Given the description of an element on the screen output the (x, y) to click on. 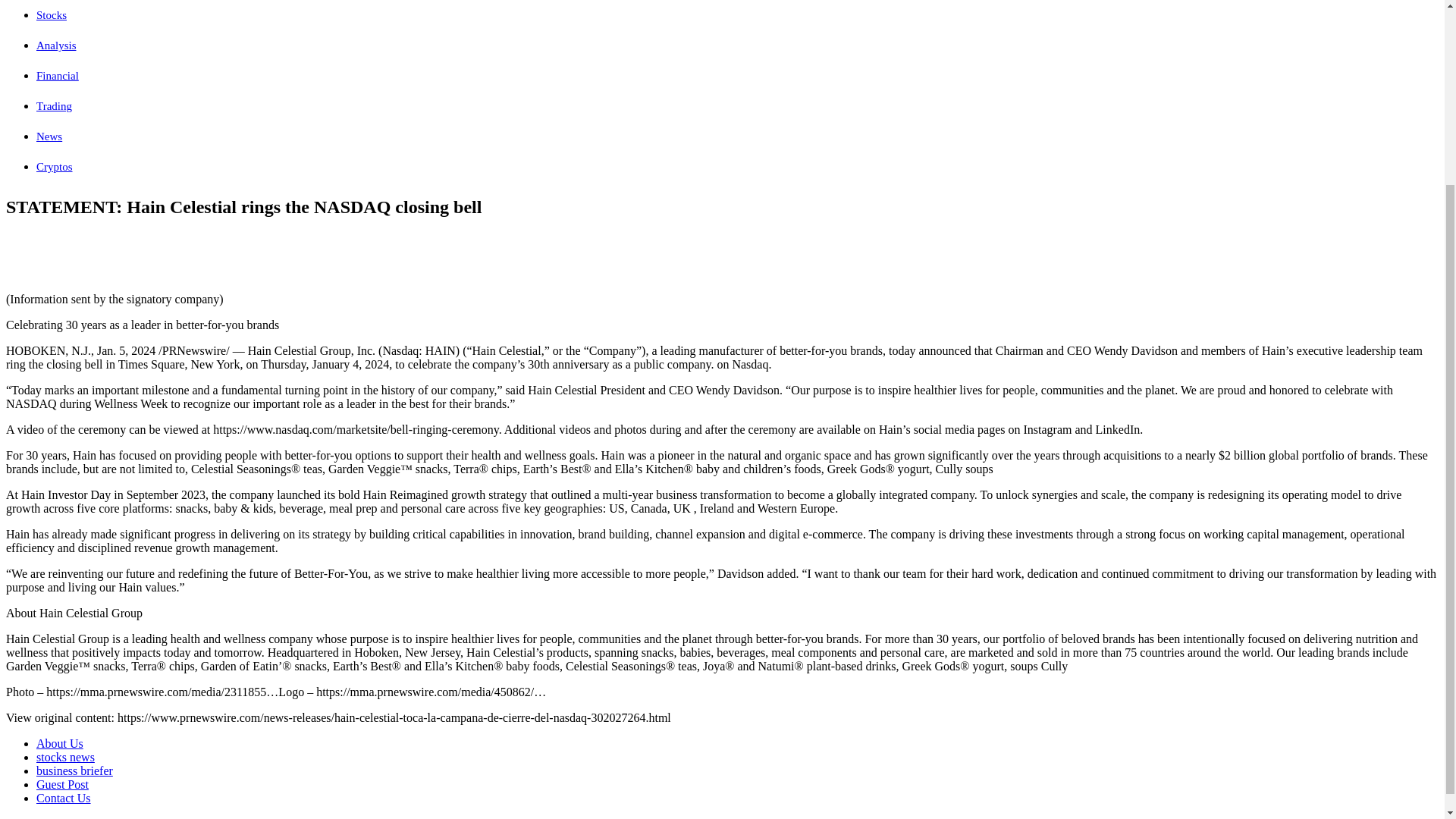
Cryptos (54, 166)
Analysis (56, 45)
Trading (53, 105)
About Us (59, 743)
Guest Post (62, 784)
stocks news (65, 757)
Contact Us (63, 797)
Stocks (51, 15)
News (49, 136)
business briefer (74, 770)
